Given the description of an element on the screen output the (x, y) to click on. 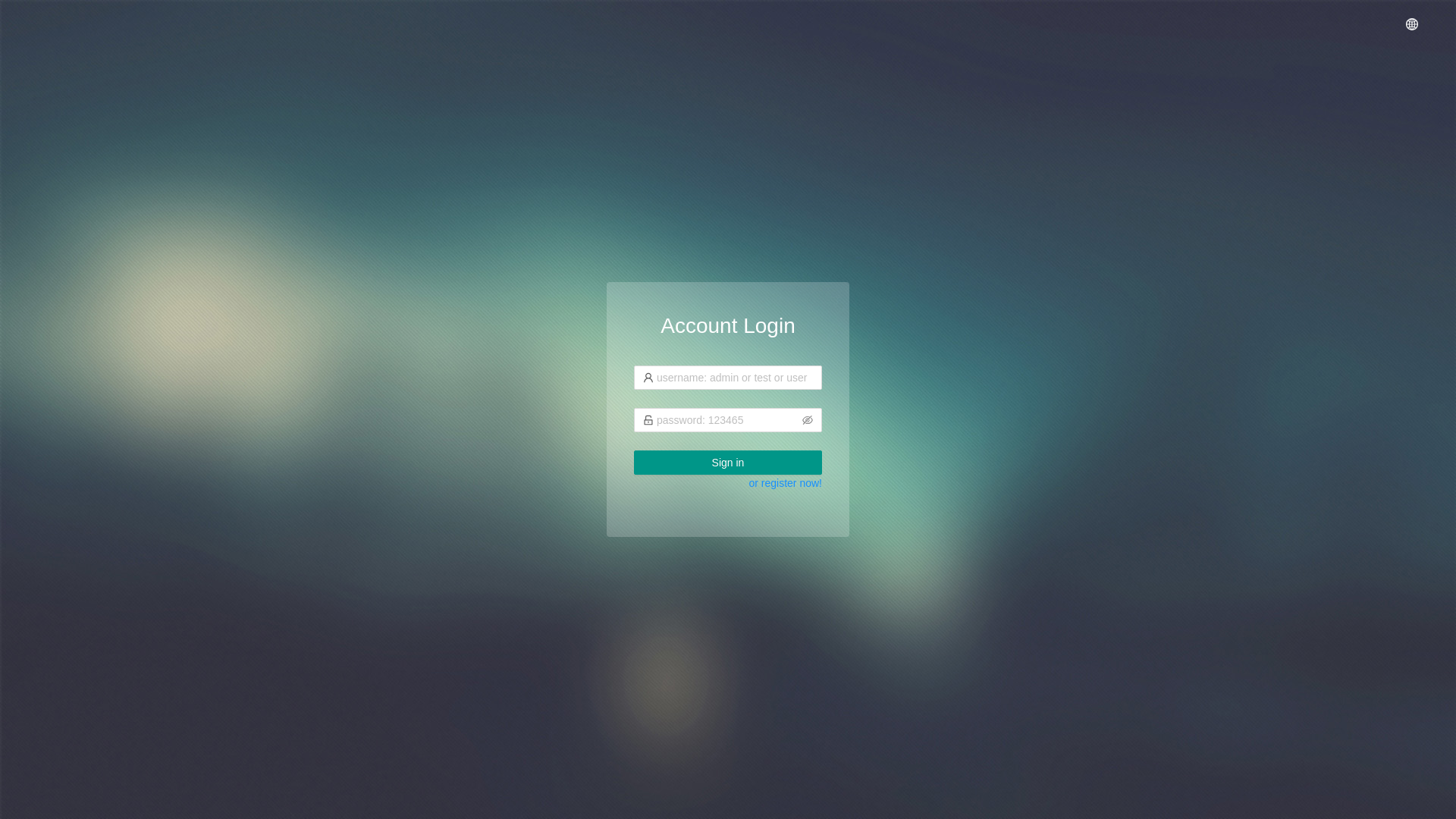
Sign in Element type: text (727, 462)
or register now! Element type: text (785, 482)
